Given the description of an element on the screen output the (x, y) to click on. 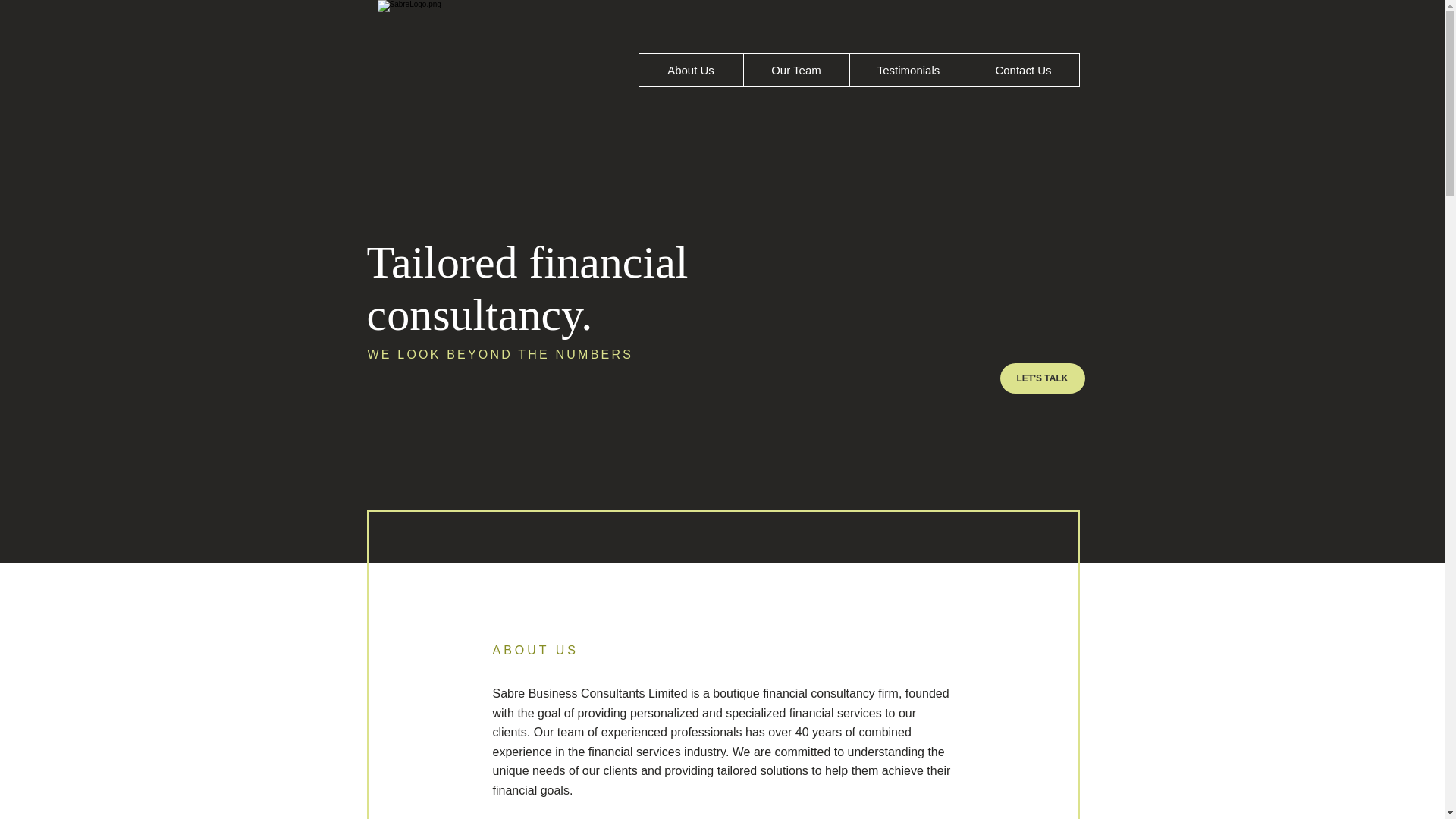
Our Team (795, 70)
Testimonials (908, 70)
LET'S TALK (1041, 378)
Contact Us (1023, 70)
About Us (690, 70)
